Given the description of an element on the screen output the (x, y) to click on. 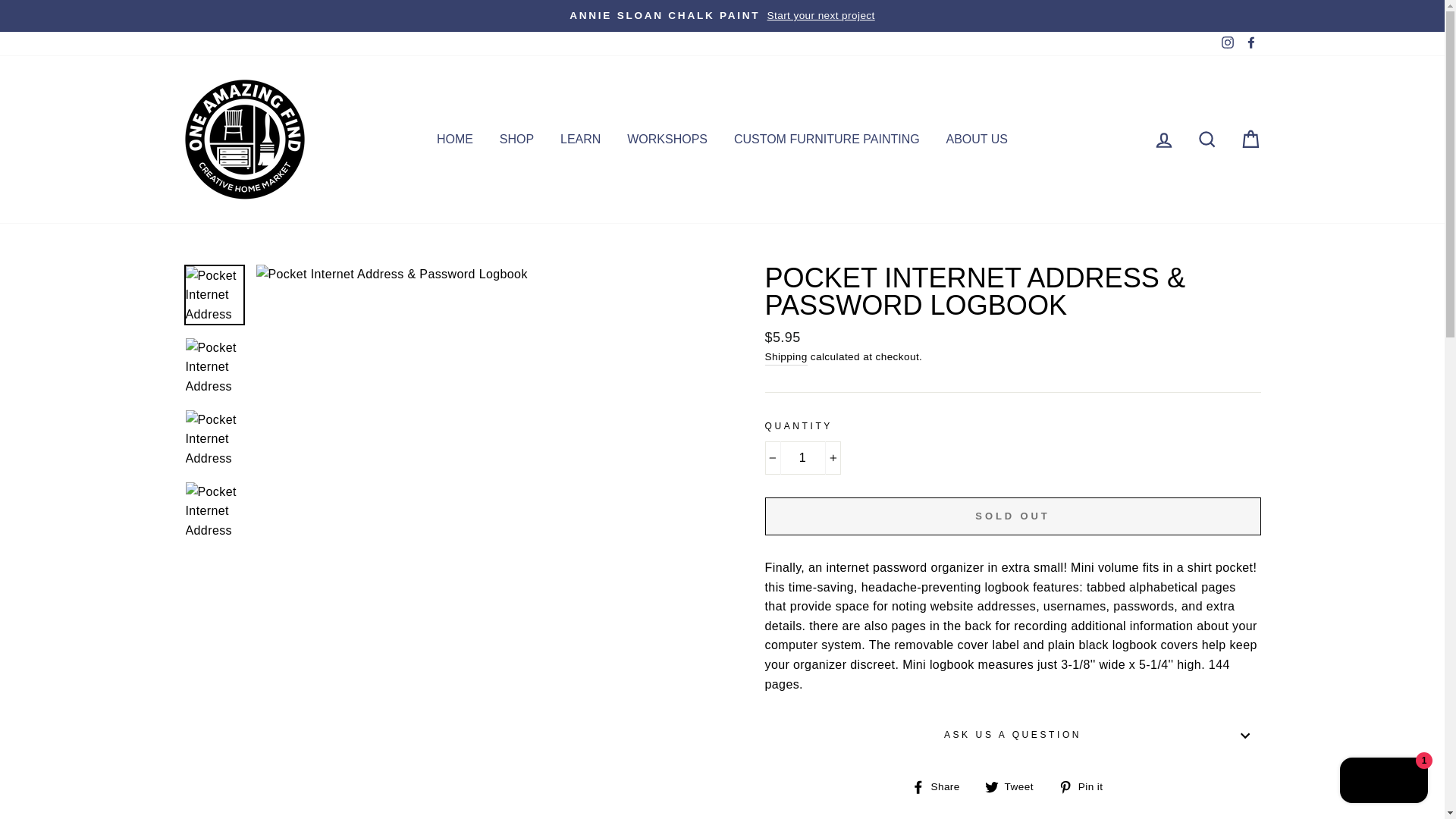
1 (802, 458)
Tweet on Twitter (1015, 786)
Shopify online store chat (1383, 781)
Pin on Pinterest (1085, 786)
SHOP (515, 138)
HOME (454, 138)
Share on Facebook (941, 786)
ANNIE SLOAN CHALK PAINT Start your next project (722, 15)
